Given the description of an element on the screen output the (x, y) to click on. 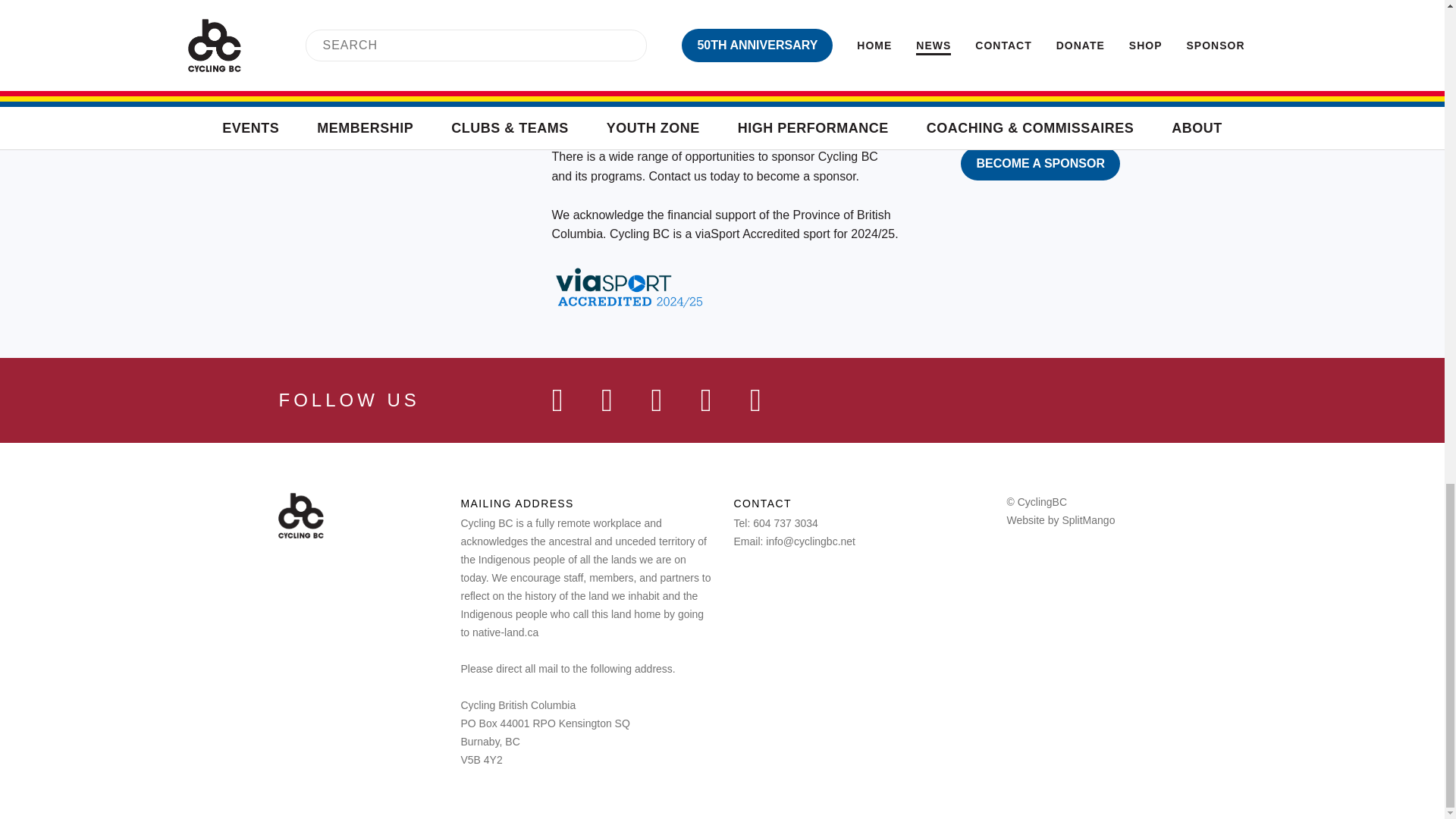
jakroo-logo (759, 3)
BCCC-short-logo-2020-web (947, 71)
cycling-canada-logo-long (742, 71)
bc-logo (836, 71)
logo-viasport-min (609, 71)
Gallagher-Logo (898, 9)
cbc-logo-2x (300, 515)
Interpodia logo (1037, 7)
